Given the description of an element on the screen output the (x, y) to click on. 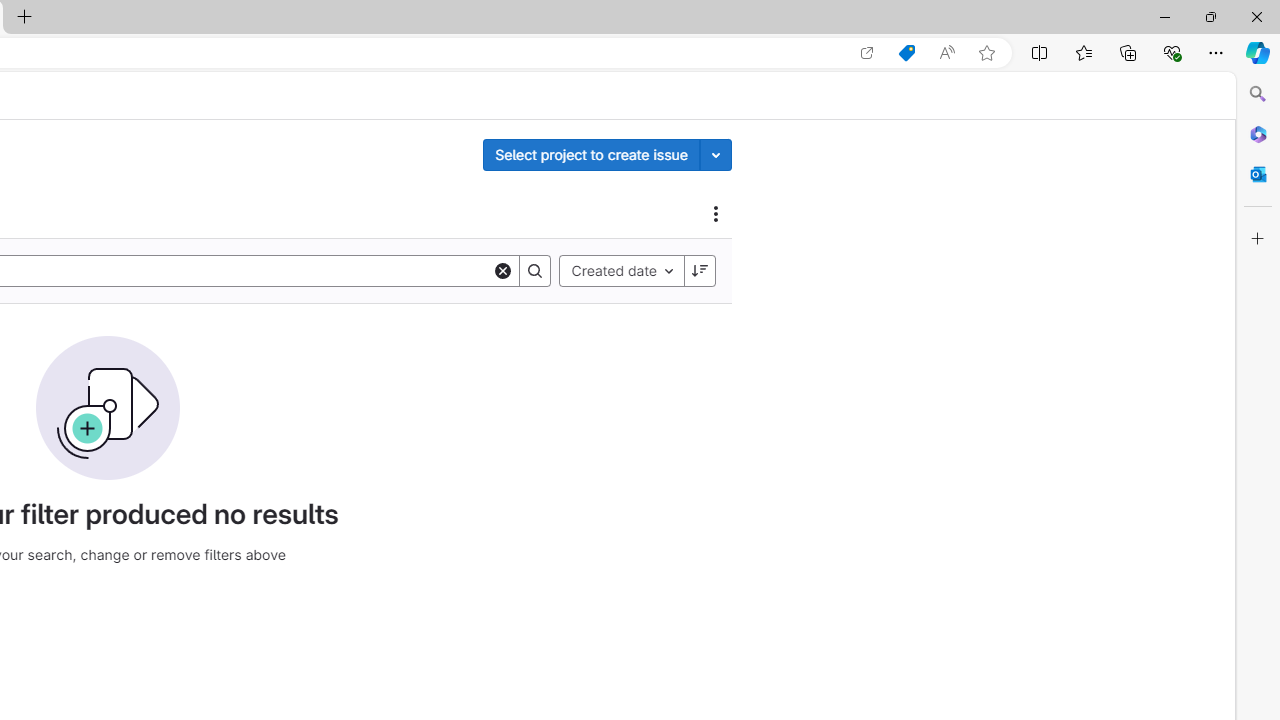
Created date (621, 270)
Actions (716, 213)
Open in app (867, 53)
Toggle project select (716, 154)
Sort direction: Descending (699, 270)
